Given the description of an element on the screen output the (x, y) to click on. 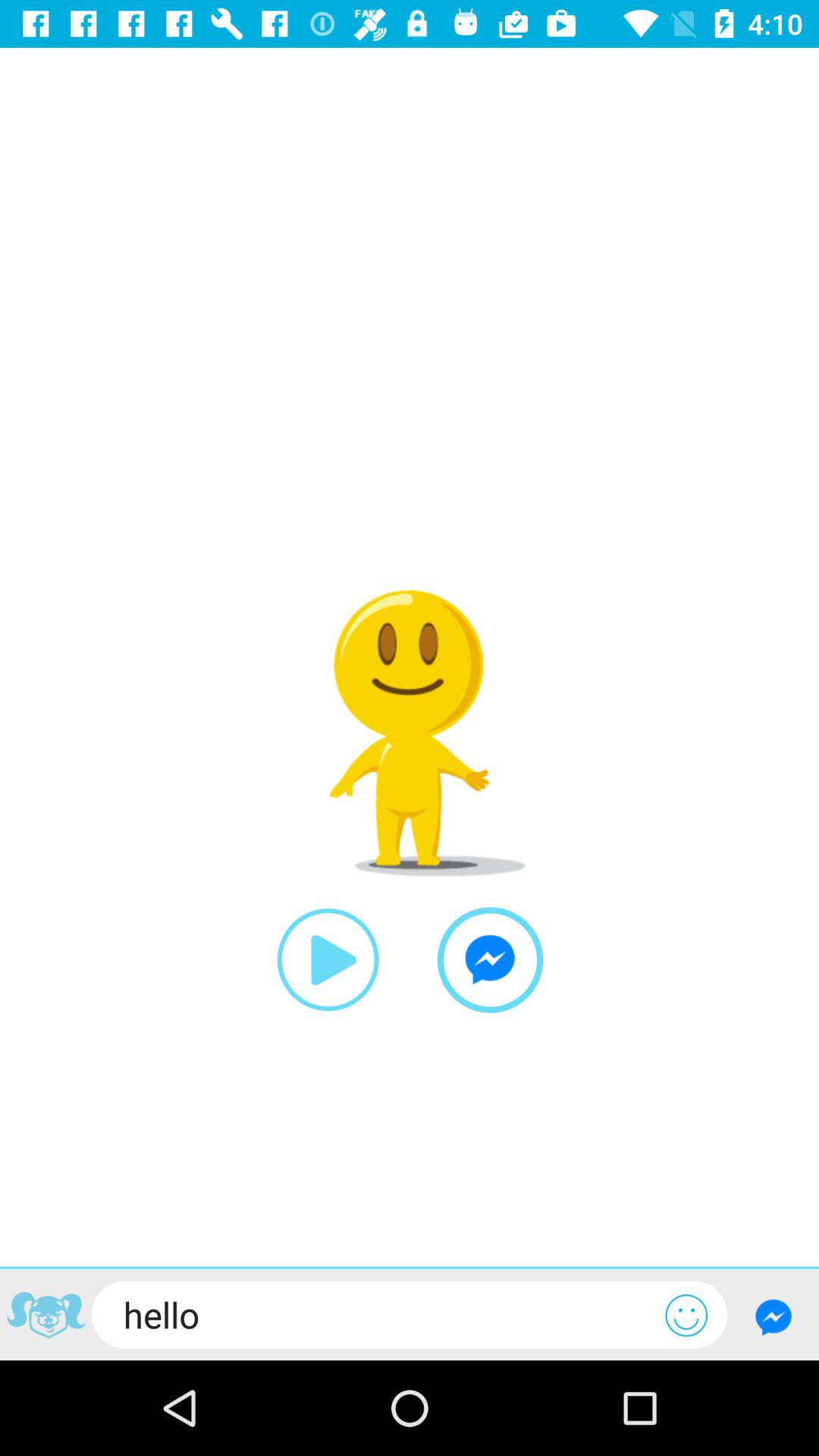
jump until hello icon (378, 1314)
